Given the description of an element on the screen output the (x, y) to click on. 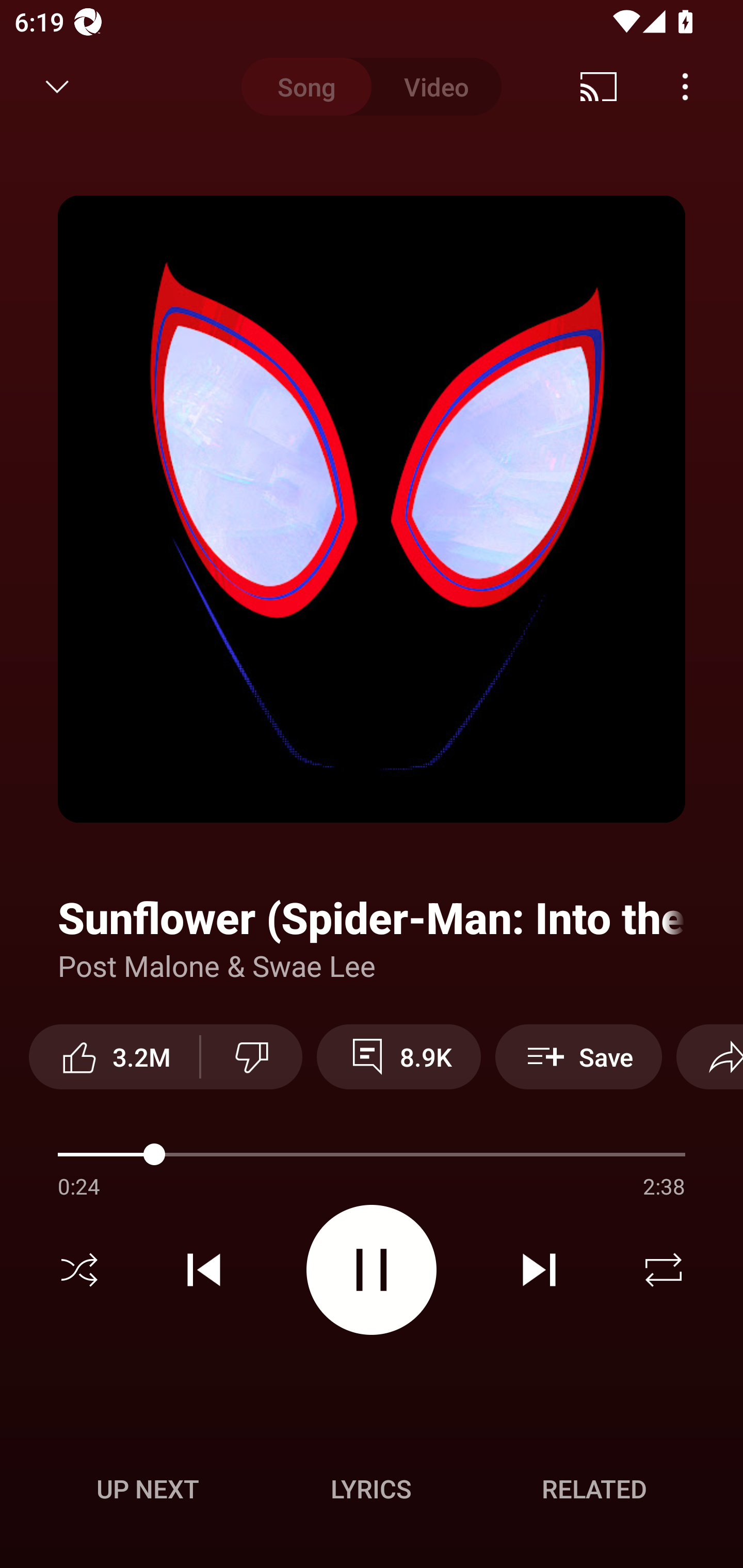
Minimize (57, 86)
Cast. Disconnected (598, 86)
Menu (684, 86)
Dislike (251, 1056)
8.9K View 8,905 comments (398, 1056)
Save Save to playlist (578, 1056)
Share (709, 1056)
Pause video (371, 1269)
Shuffle off (79, 1269)
Previous track (203, 1269)
Next track (538, 1269)
Repeat off (663, 1269)
Up next UP NEXT Lyrics LYRICS Related RELATED (371, 1491)
Lyrics LYRICS (370, 1488)
Related RELATED (594, 1488)
